Given the description of an element on the screen output the (x, y) to click on. 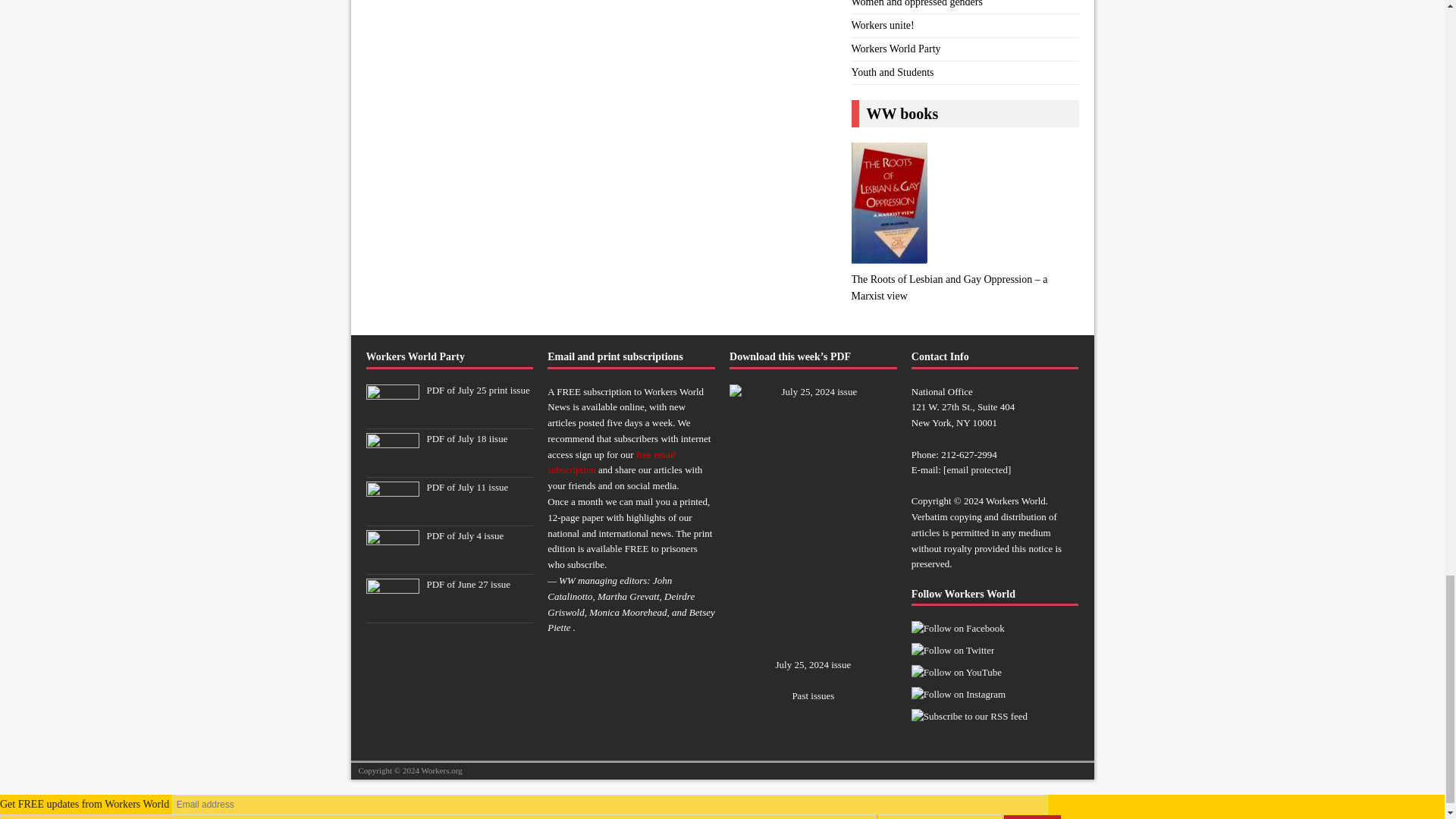
PDF of July 25 print issue (477, 389)
PDF of July 11 issue (392, 512)
PDF of July 18 iisue (392, 464)
PDF of July 4 issue (464, 535)
PDF of July 25 print issue (392, 415)
PDF of July 11 issue (467, 487)
PDF of July 4 issue (392, 561)
PDF of June 27 issue (392, 609)
PDF of June 27 issue (468, 583)
PDF of July 18 iisue (466, 438)
